Given the description of an element on the screen output the (x, y) to click on. 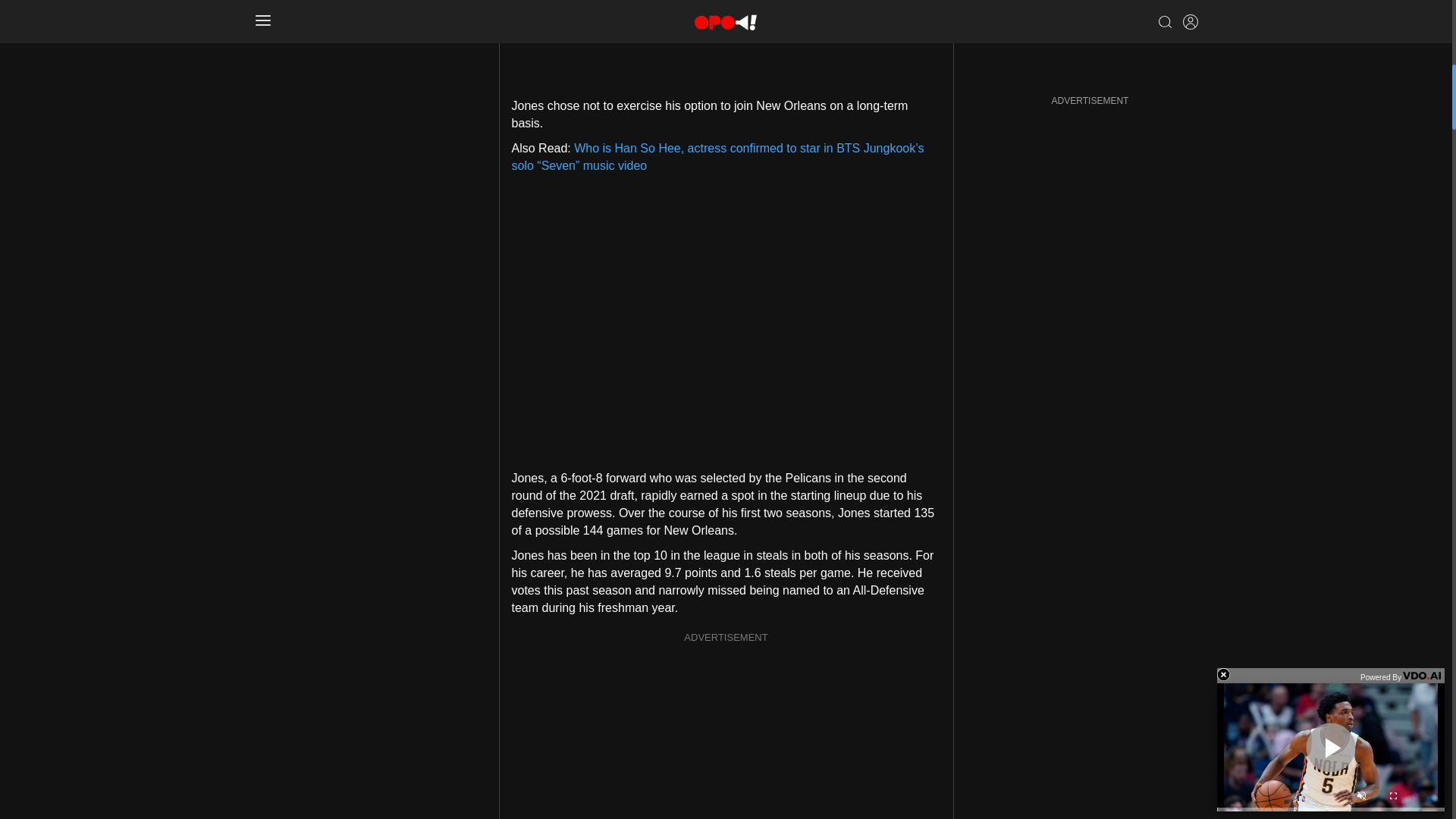
3rd party ad content (726, 36)
